Given the description of an element on the screen output the (x, y) to click on. 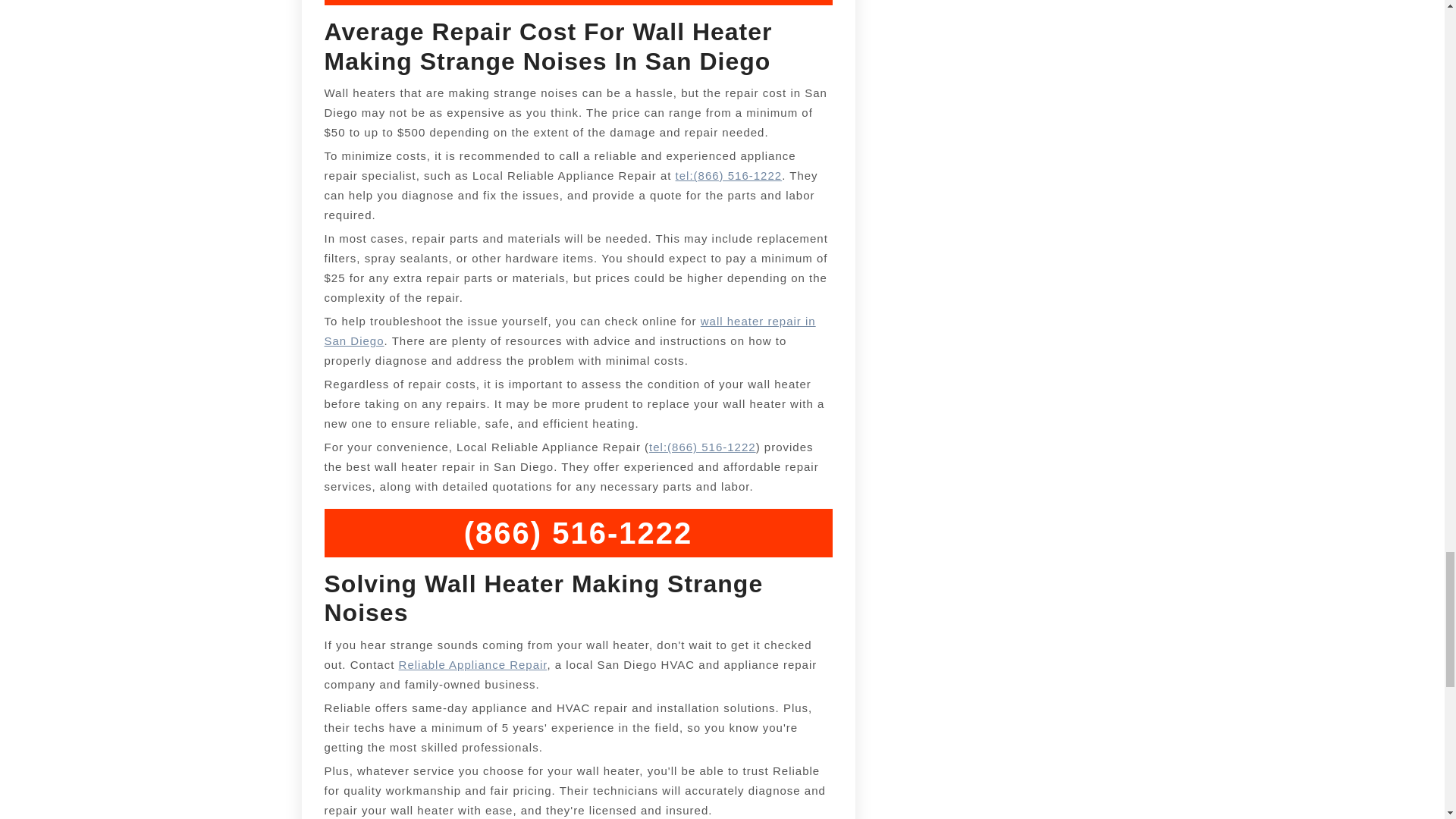
Reliable Appliance Repair (472, 664)
wall heater repair in San Diego (569, 330)
